Given the description of an element on the screen output the (x, y) to click on. 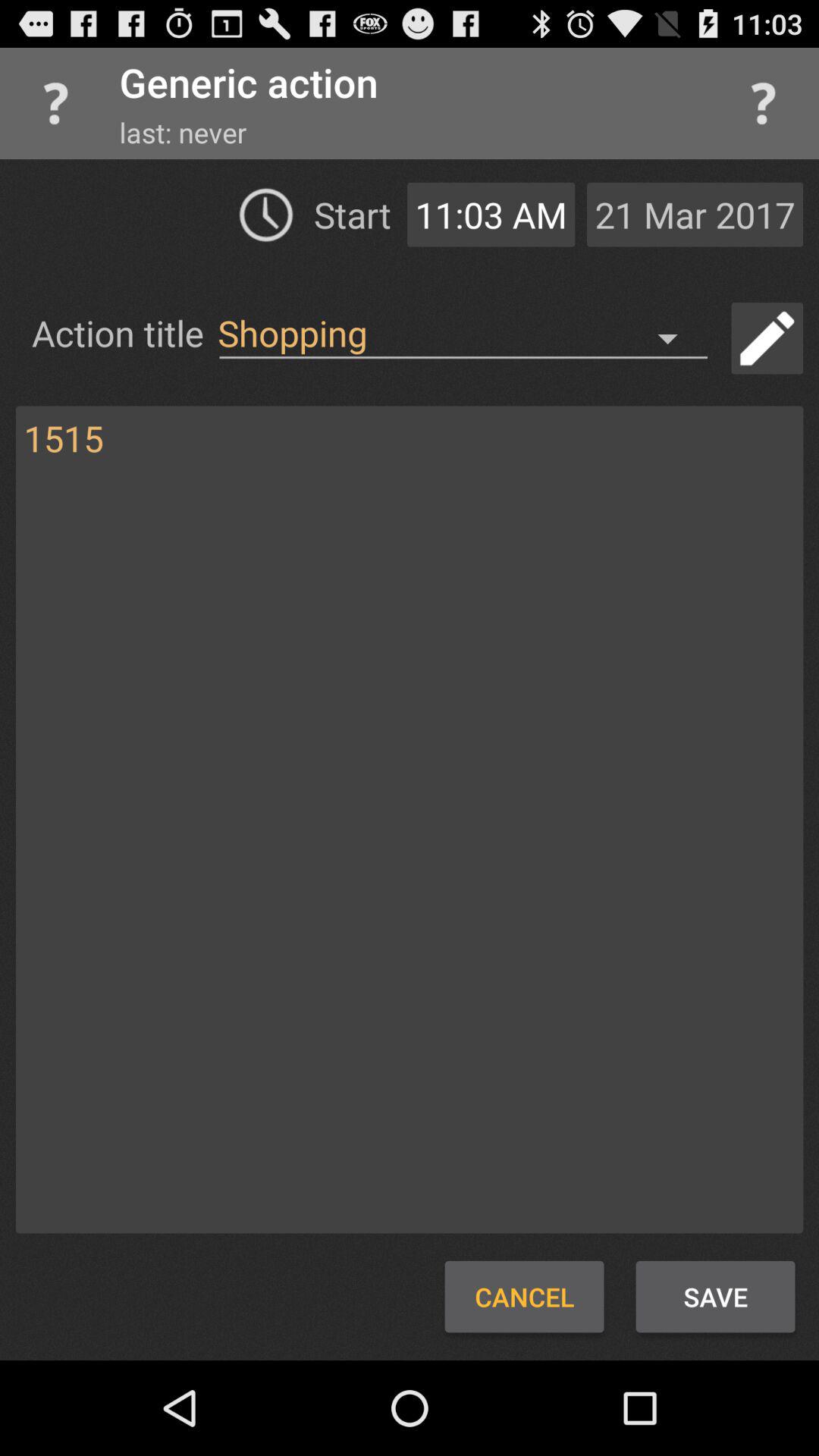
open help menu (763, 103)
